Given the description of an element on the screen output the (x, y) to click on. 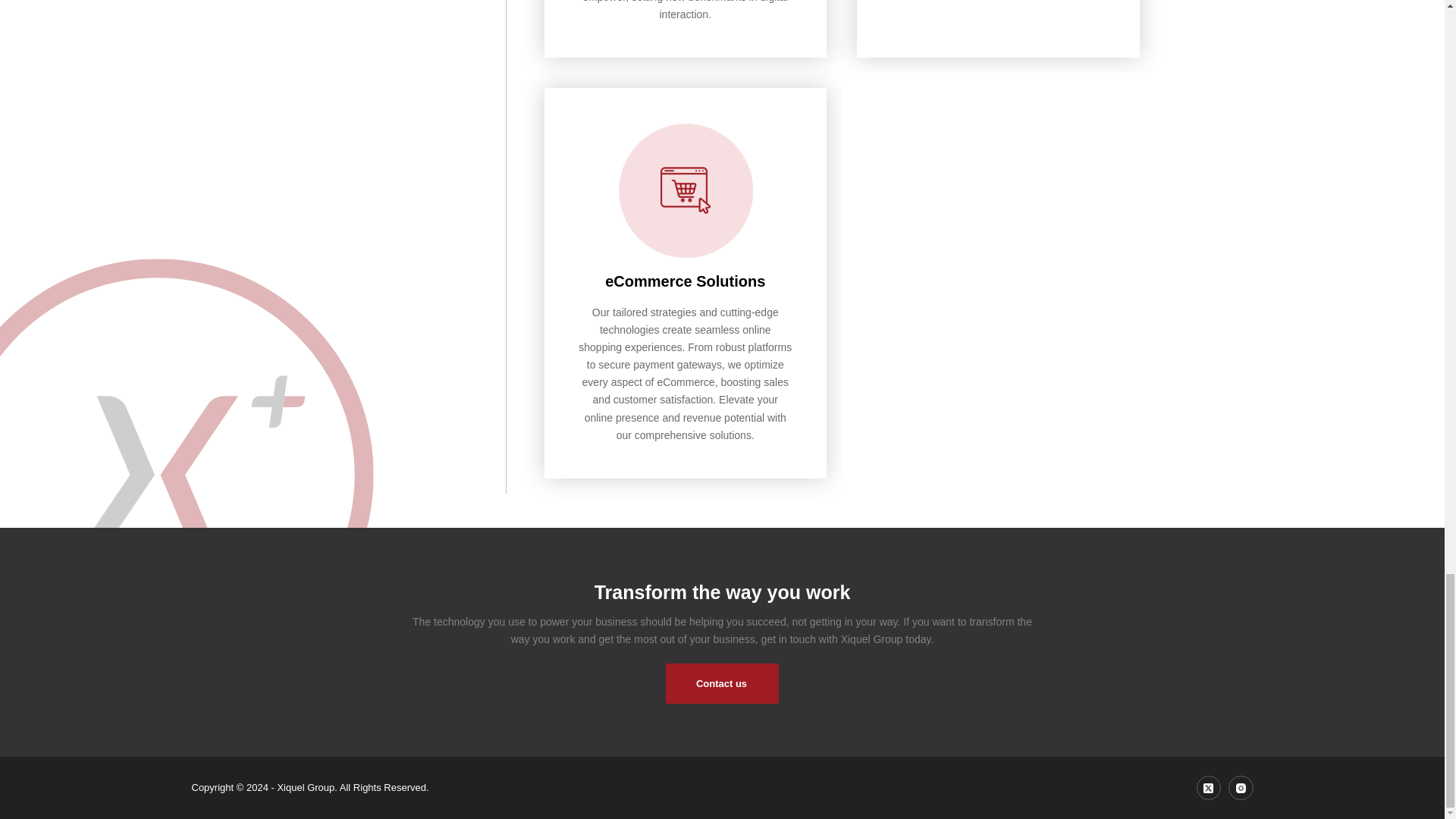
Contact us (721, 683)
